Given the description of an element on the screen output the (x, y) to click on. 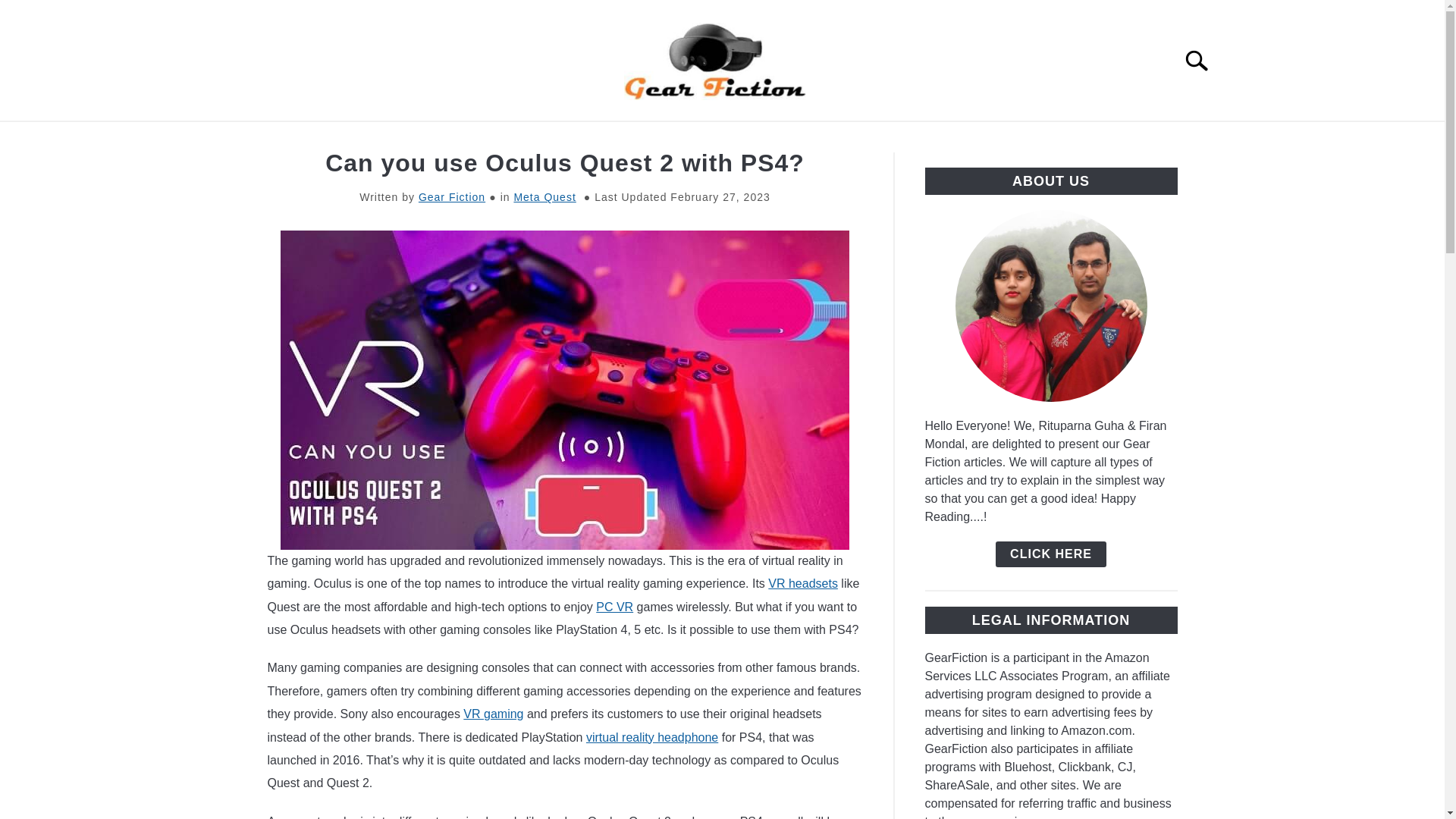
PS4 (844, 139)
VR INFO (916, 139)
PC VR (614, 606)
META QUEST (546, 139)
VR headsets (803, 583)
VALVE INDEX (757, 139)
VR gaming (492, 713)
BLOG (993, 139)
Gear Fiction (451, 196)
HTC VIVE (651, 139)
